Given the description of an element on the screen output the (x, y) to click on. 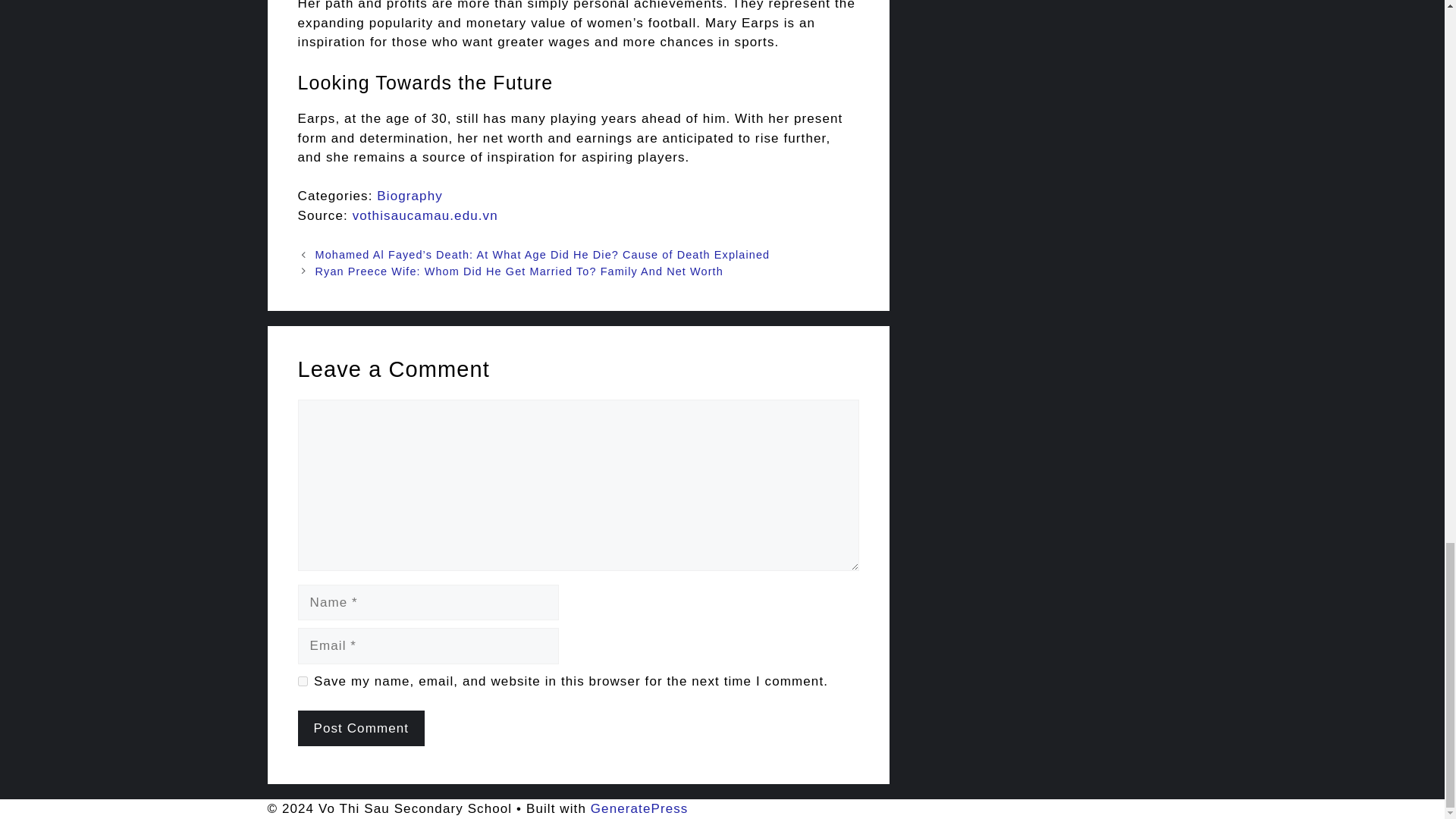
Biography (409, 196)
Post Comment (361, 728)
Post Comment (361, 728)
GeneratePress (639, 808)
yes (302, 681)
vothisaucamau.edu.vn (424, 215)
